Given the description of an element on the screen output the (x, y) to click on. 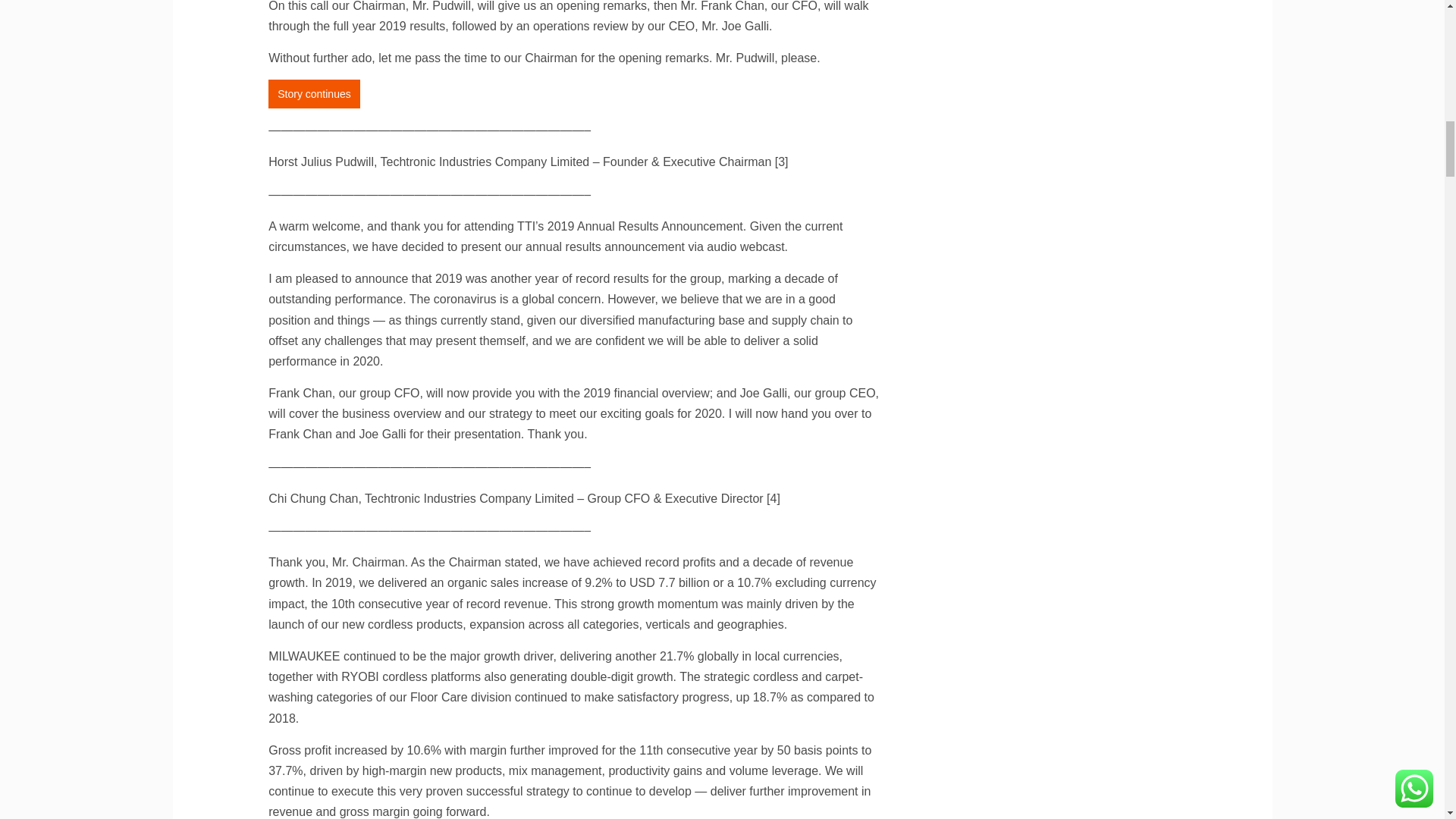
Story continues (313, 93)
